Given the description of an element on the screen output the (x, y) to click on. 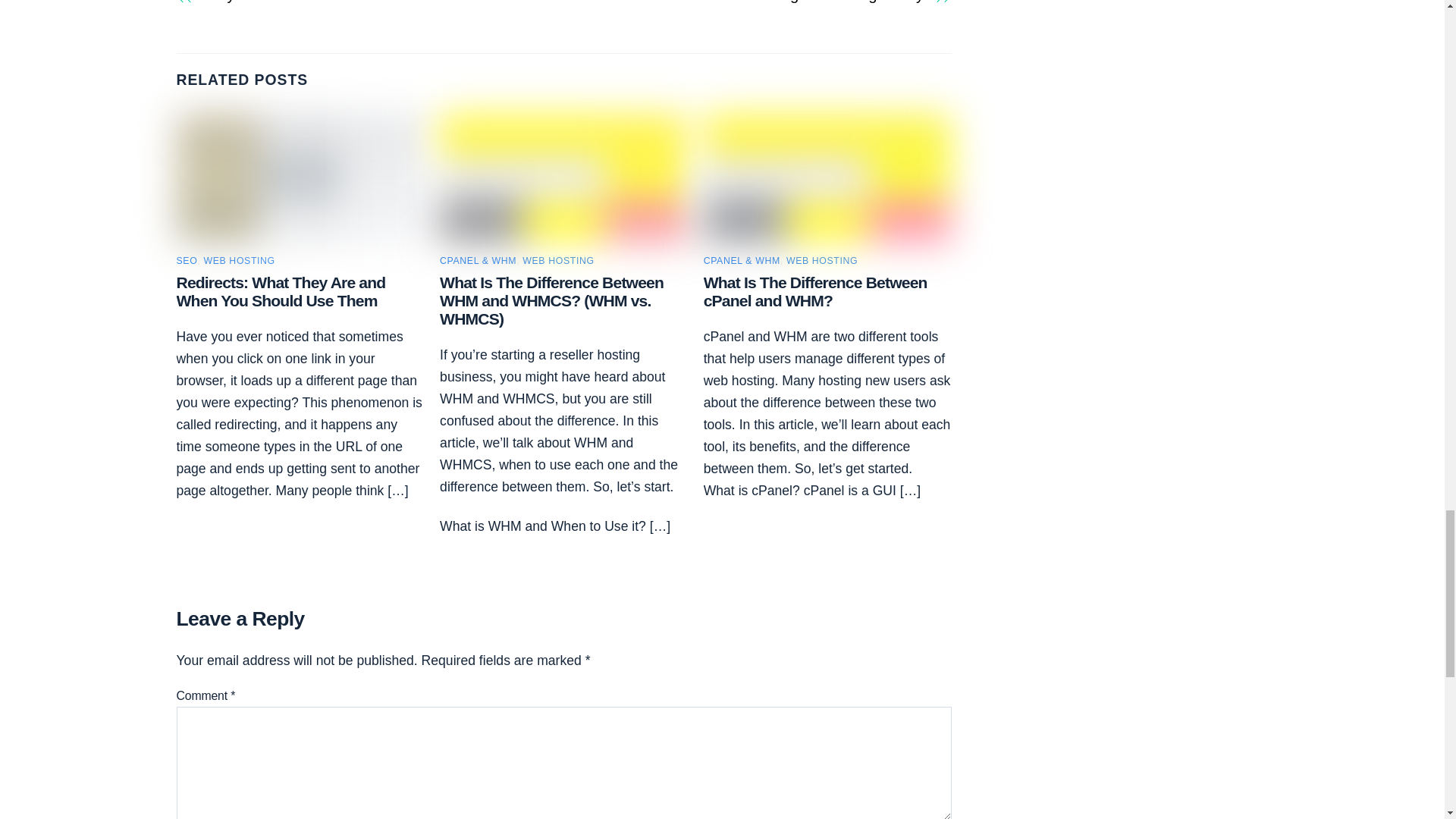
WEB HOSTING (239, 260)
Redirects: What They Are and When You Should Use Them (280, 291)
WEB HOSTING (821, 260)
Why You Should Use WordPress? (371, 2)
WEB HOSTING (558, 260)
what are redirects (299, 177)
WHM vs WHMCS (563, 177)
SEO (186, 260)
What Is The Difference Between cPanel and WHM? (815, 291)
22 (827, 177)
